Given the description of an element on the screen output the (x, y) to click on. 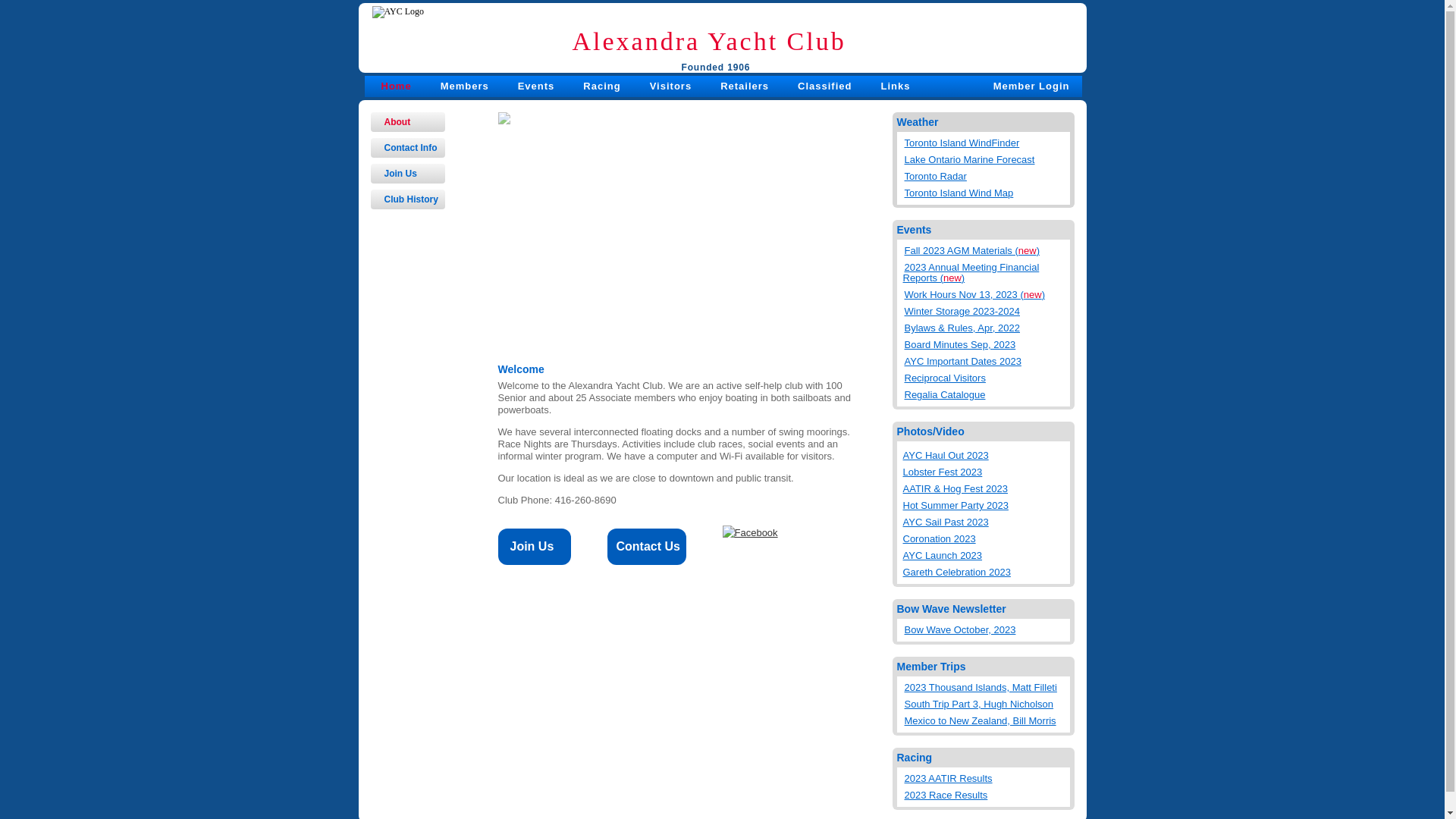
Facebook Element type: hover (749, 532)
Visitors Element type: text (670, 85)
Gareth Celebration 2023 Element type: text (984, 572)
Links Element type: text (895, 85)
Member Login Element type: text (1031, 85)
Fall 2023 AGM Materials (new) Element type: text (985, 247)
Lobster Fest 2023 Element type: text (984, 472)
Members Element type: text (464, 85)
Board Minutes Sep, 2023 Element type: text (985, 341)
Retailers Element type: text (744, 85)
Racing Element type: text (601, 85)
AATIR & Hog Fest 2023 Element type: text (984, 488)
Reciprocal Visitors Element type: text (985, 375)
Winter Storage 2023-2024 Element type: text (985, 308)
Join Us Element type: text (407, 173)
2023 Thousand Islands, Matt Filleti Element type: text (985, 684)
Contact Info Element type: text (407, 147)
AYC Sail Past 2023 Element type: text (984, 522)
Toronto Island WindFinder Element type: text (985, 139)
2023 Race Results Element type: text (985, 792)
Classified Element type: text (824, 85)
South Trip Part 3, Hugh Nicholson Element type: text (985, 701)
Toronto Island Wind Map Element type: text (985, 190)
Lake Ontario Marine Forecast Element type: text (985, 156)
2023 AATIR Results Element type: text (985, 775)
Toronto Radar Element type: text (985, 173)
AYC Haul Out 2023 Element type: text (984, 455)
Work Hours Nov 13, 2023 (new) Element type: text (985, 291)
AYC Launch 2023 Element type: text (984, 555)
Home Element type: text (395, 85)
Coronation 2023 Element type: text (984, 538)
Bow Wave October, 2023 Element type: text (985, 626)
2023 Annual Meeting Financial Reports (new) Element type: text (985, 269)
Regalia Catalogue Element type: text (985, 391)
AYC Important Dates 2023 Element type: text (985, 358)
Bylaws & Rules, Apr, 2022 Element type: text (985, 324)
Club History Element type: text (407, 199)
About Element type: text (407, 121)
Mexico to New Zealand, Bill Morris Element type: text (985, 717)
Events Element type: text (536, 85)
Hot Summer Party 2023 Element type: text (984, 505)
